Given the description of an element on the screen output the (x, y) to click on. 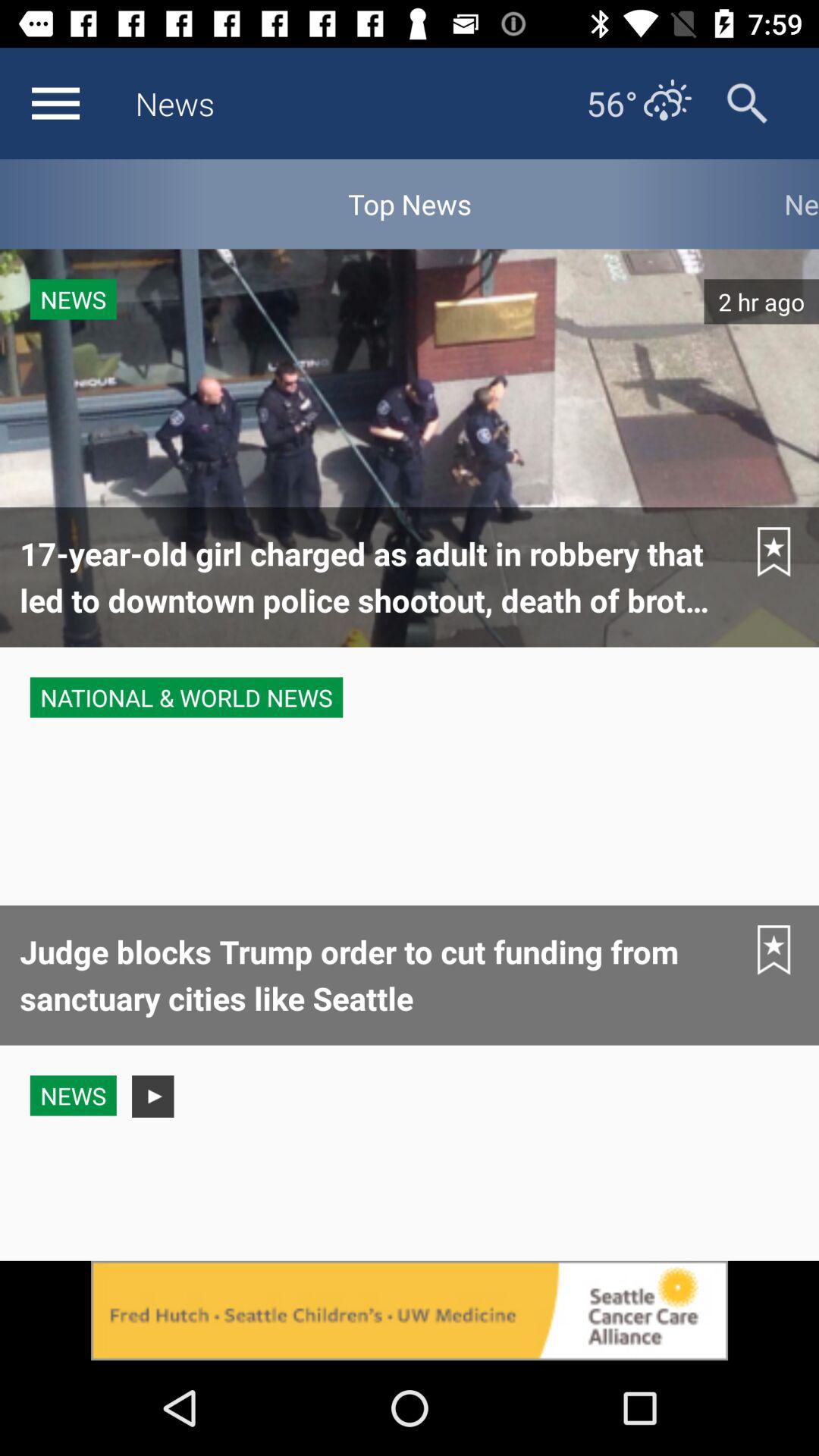
open advertisements detail (409, 1310)
